Given the description of an element on the screen output the (x, y) to click on. 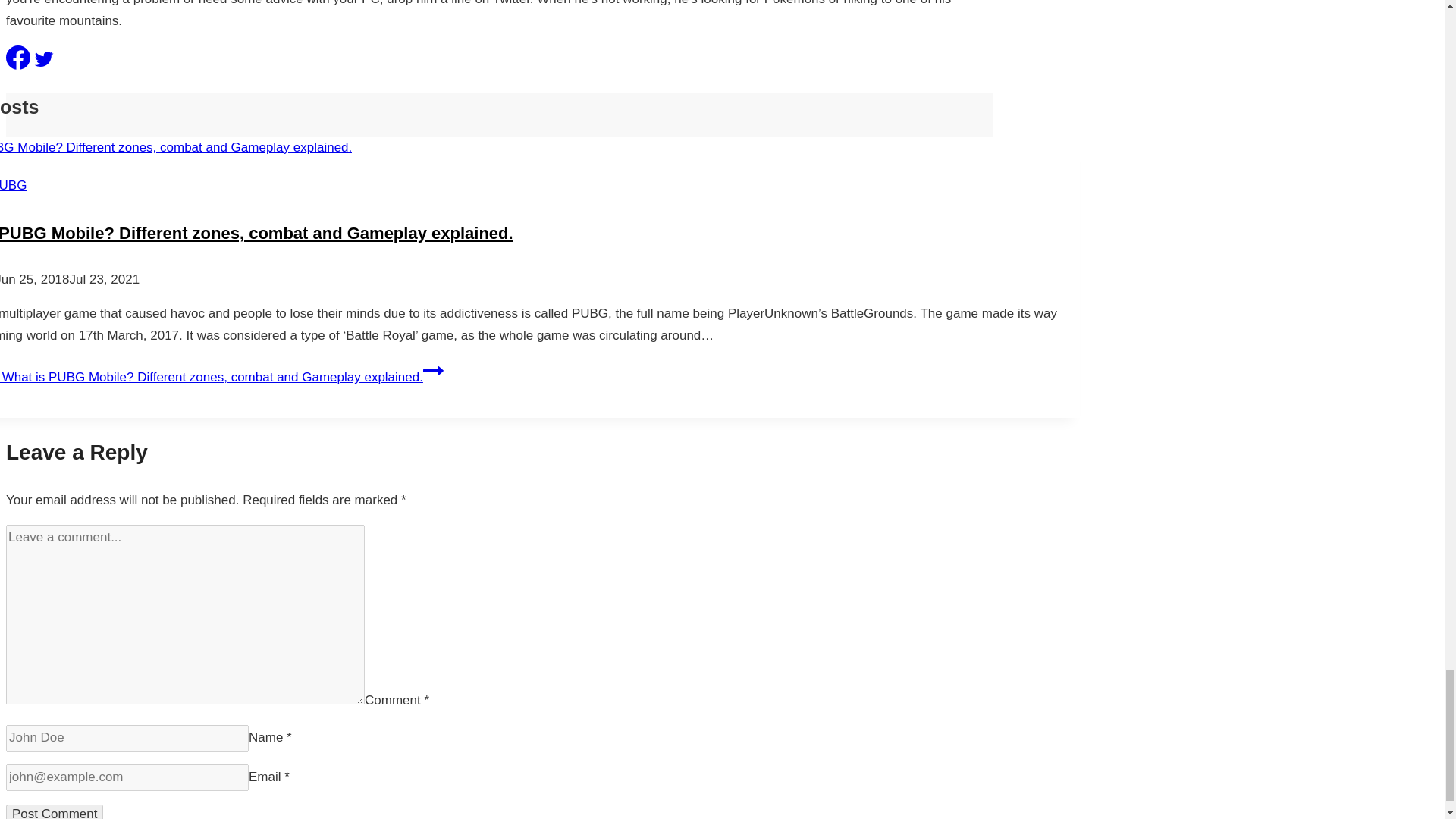
Twitter (43, 58)
Facebook (17, 57)
Follow Shoeb on Facebook (19, 65)
Follow Shoeb on Twitter (43, 65)
Continue (433, 370)
